Given the description of an element on the screen output the (x, y) to click on. 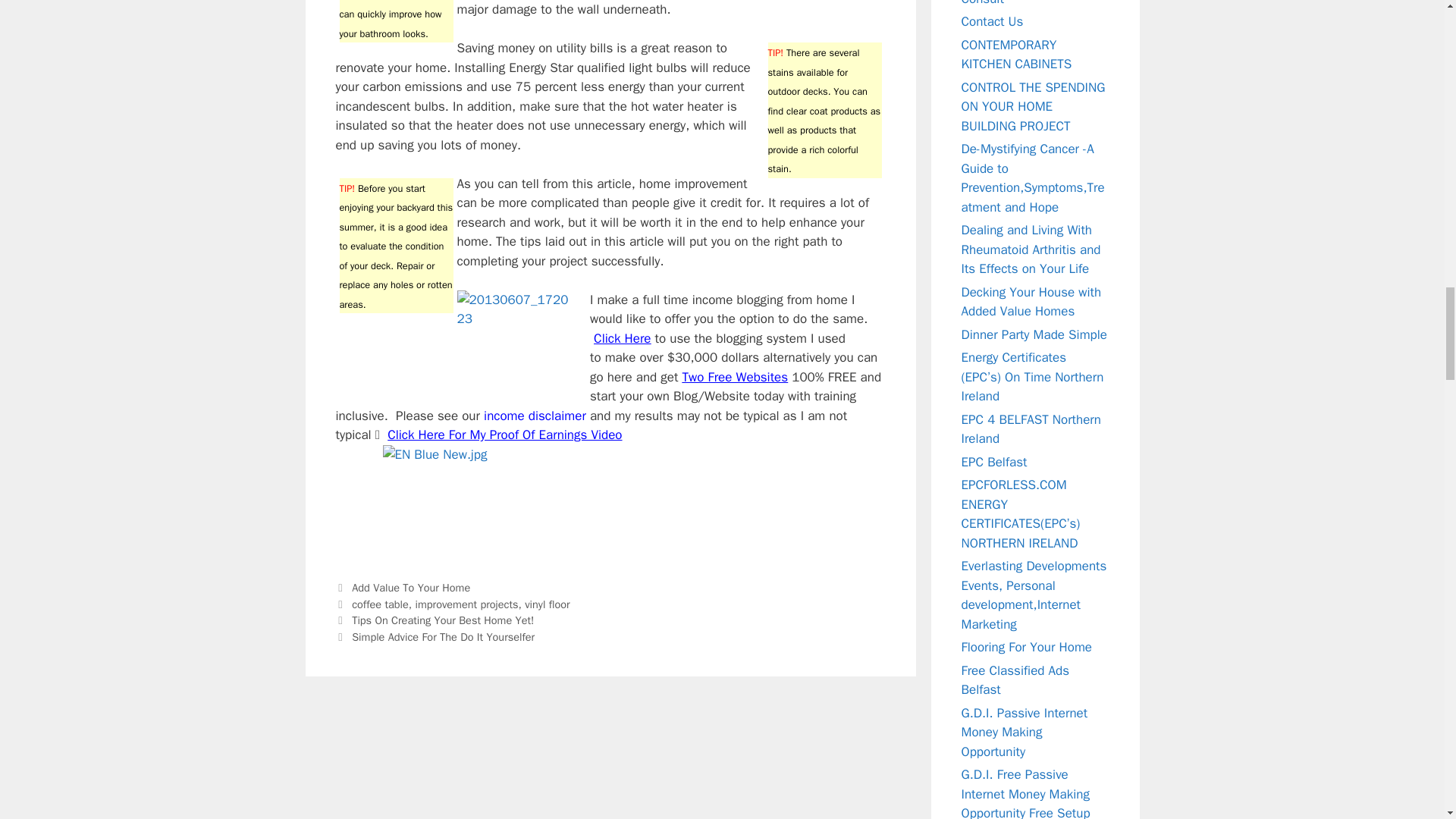
vinyl floor (546, 603)
Tips On Creating Your Best Home Yet! (443, 620)
Previous (434, 620)
coffee table (380, 603)
Click Here (622, 338)
Click Here For My Proof Of Earnings Video (504, 434)
Next (434, 636)
Two Free Websites (735, 376)
improvement projects (466, 603)
income disclaimer (534, 415)
